Given the description of an element on the screen output the (x, y) to click on. 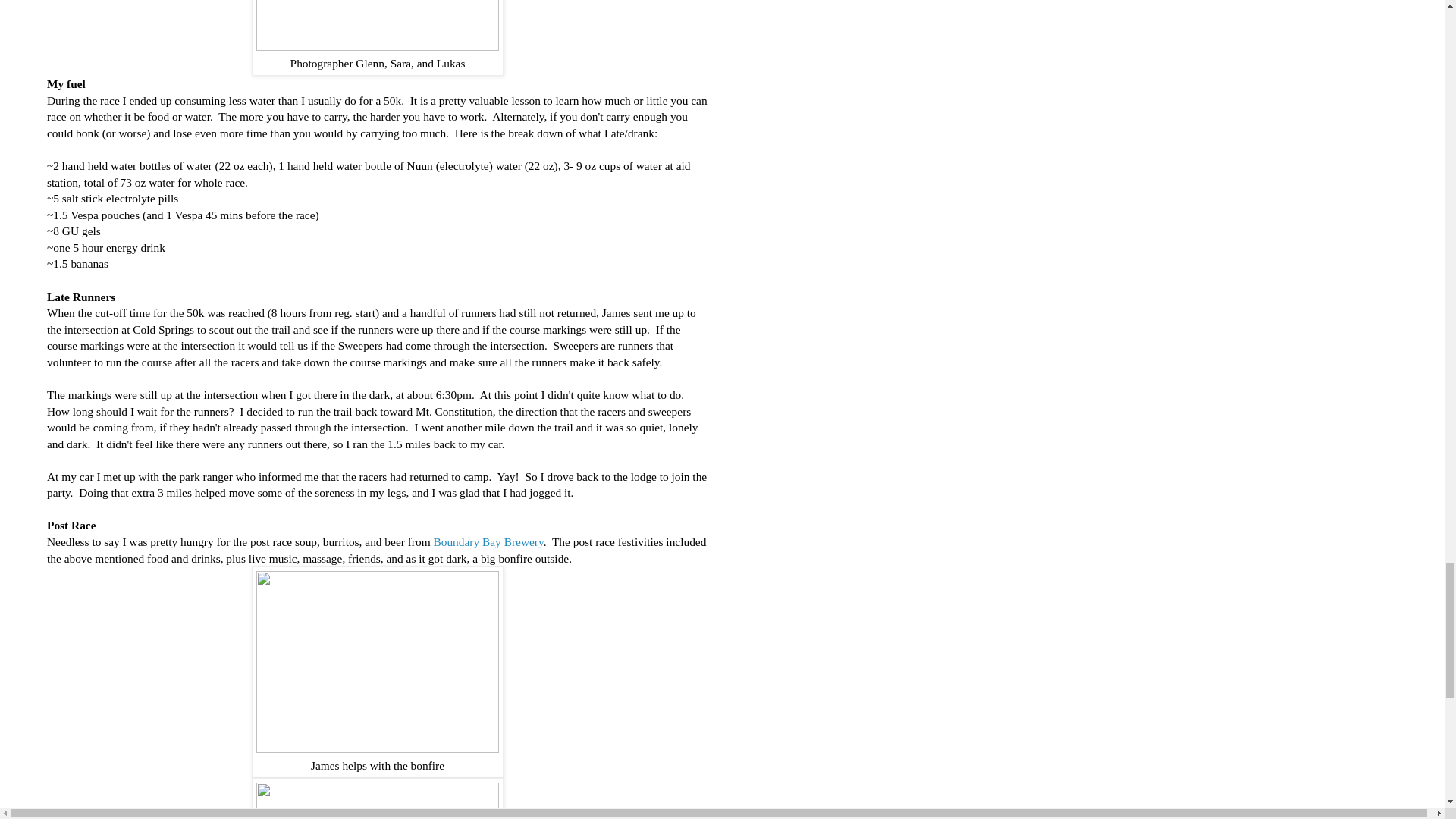
Boundary Bay Brewery (487, 541)
